Given the description of an element on the screen output the (x, y) to click on. 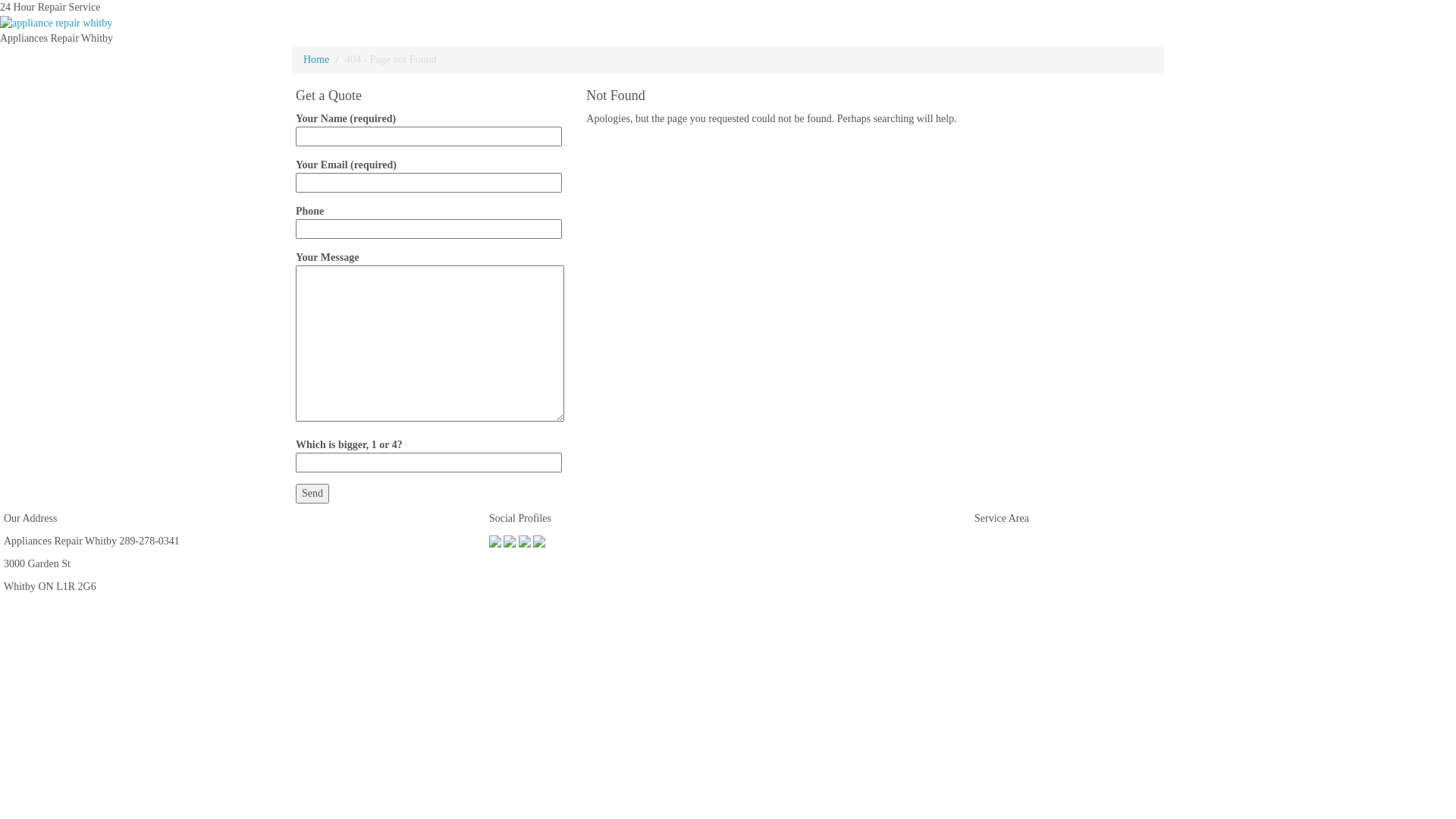
Send Element type: text (312, 493)
Home Element type: text (316, 59)
